Given the description of an element on the screen output the (x, y) to click on. 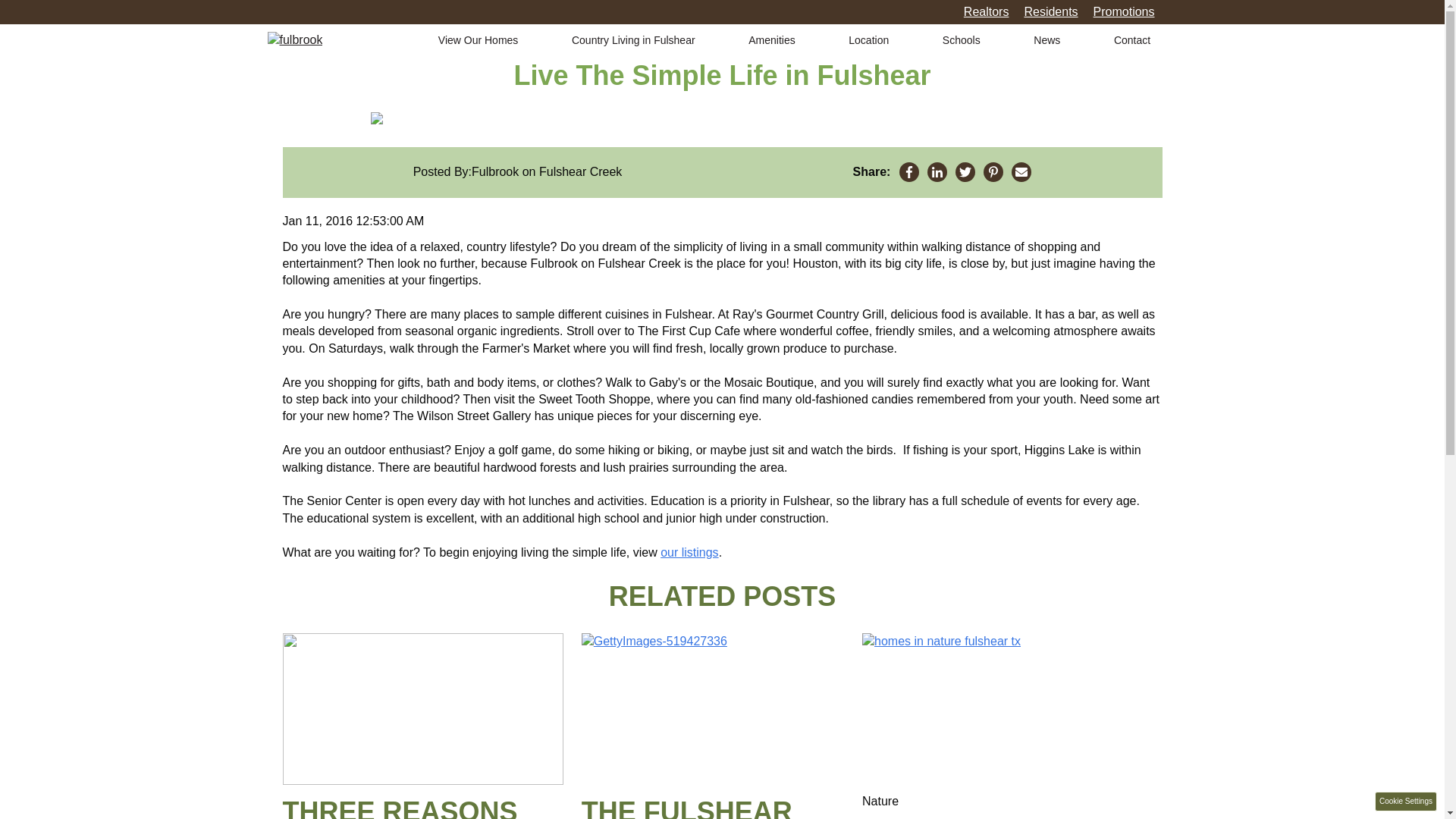
THREE REASONS KIDS LOVE LIVING IN FULSHEAR (422, 807)
Realtors (986, 11)
Residents (1050, 11)
Schools (960, 40)
Fulbrook on Fulshear Creek (546, 171)
Location (868, 40)
Contact (1131, 40)
Country Living in Fulshear (633, 40)
our listings (689, 552)
THE FULSHEAR LIBRARY IS A RICH RESOURCE FOR FAMILIES (707, 807)
News (1046, 40)
Amenities (771, 40)
Nature (879, 800)
Promotions (1123, 11)
View Our Homes (478, 40)
